Given the description of an element on the screen output the (x, y) to click on. 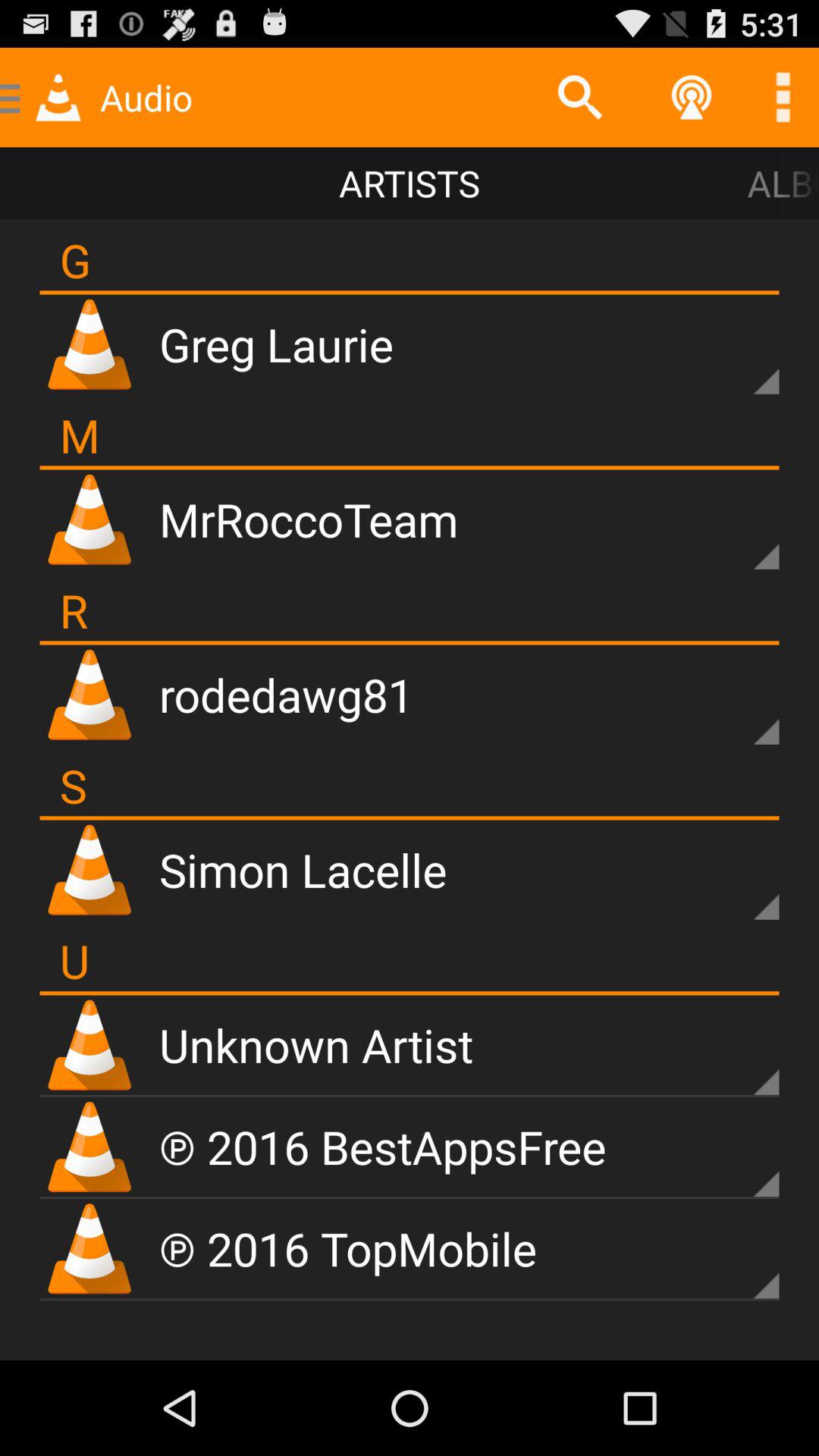
swipe to the g icon (75, 259)
